Given the description of an element on the screen output the (x, y) to click on. 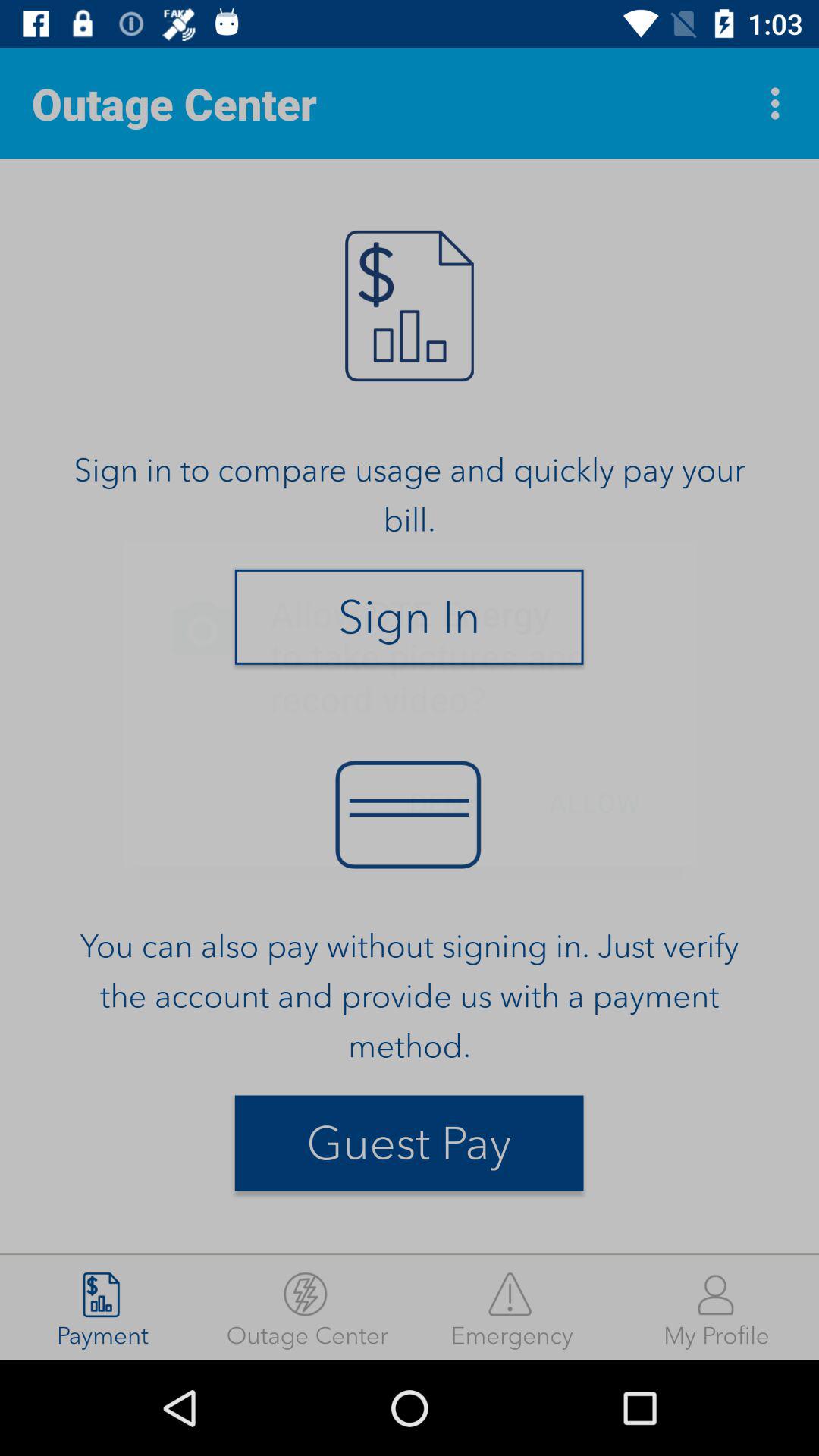
press the item to the right of the outage center (511, 1307)
